Given the description of an element on the screen output the (x, y) to click on. 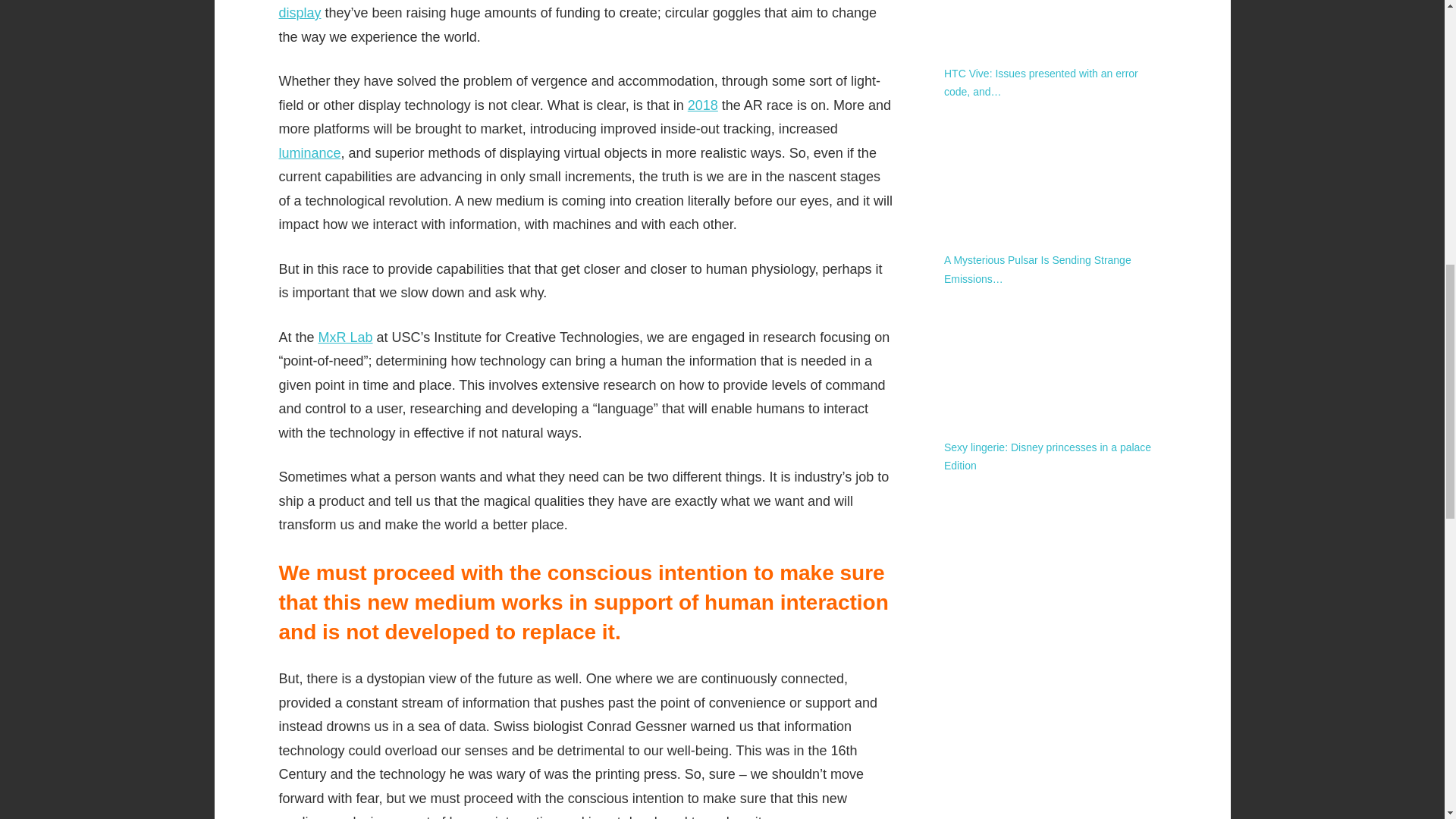
Sexy lingerie: Disney princesses in a palace Edition (1054, 360)
MxR Lab (345, 337)
luminance (309, 152)
iteration of the augmented reality head-mounted display (555, 10)
2018 (702, 105)
